Given the description of an element on the screen output the (x, y) to click on. 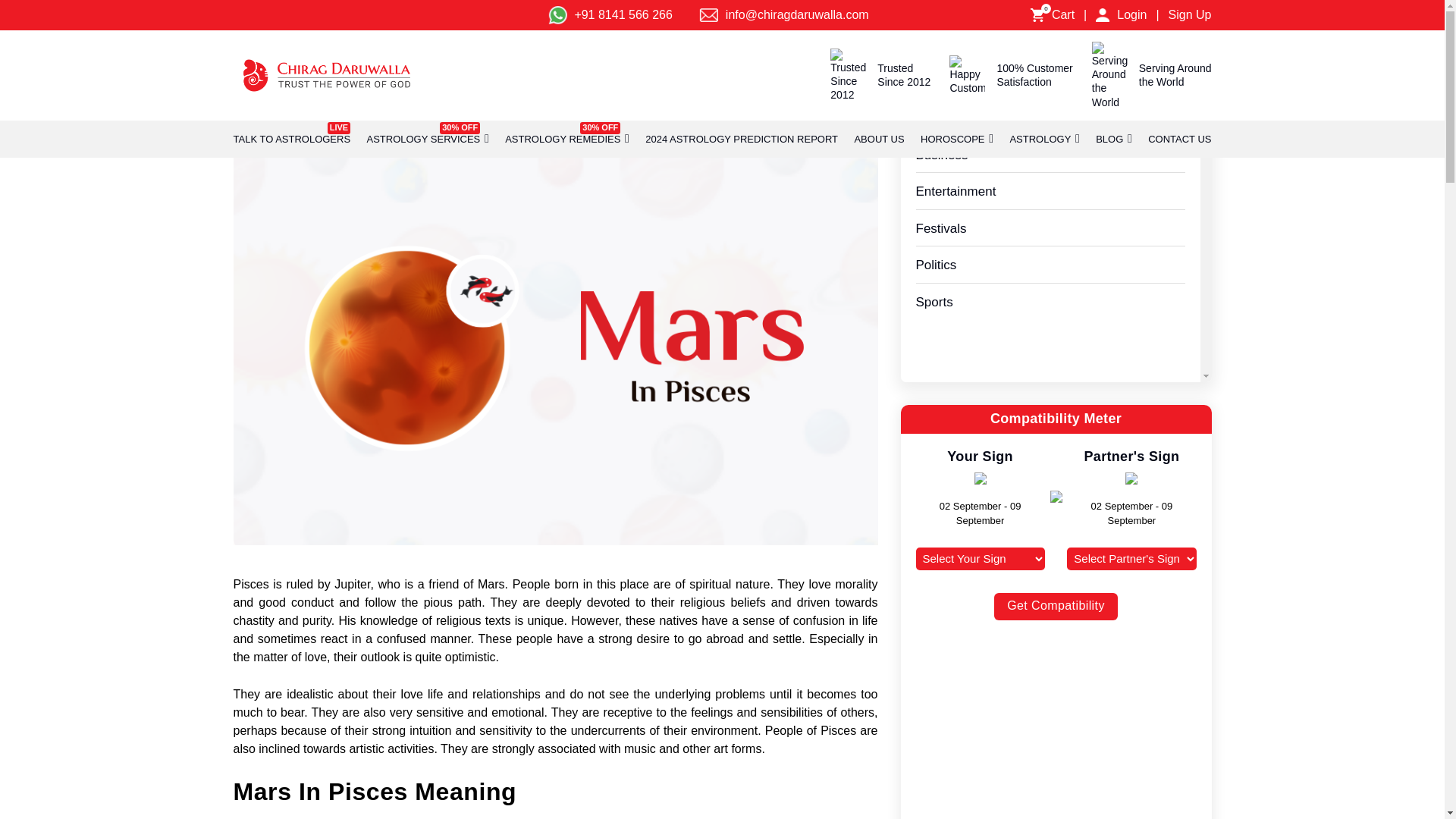
HOROSCOPE (952, 139)
ABOUT US (878, 139)
Login (1131, 14)
Sign Up (1190, 14)
Cart (1062, 14)
Email (708, 15)
2024 ASTROLOGY PREDICTION REPORT (741, 139)
login (291, 139)
Cart (1102, 15)
